Given the description of an element on the screen output the (x, y) to click on. 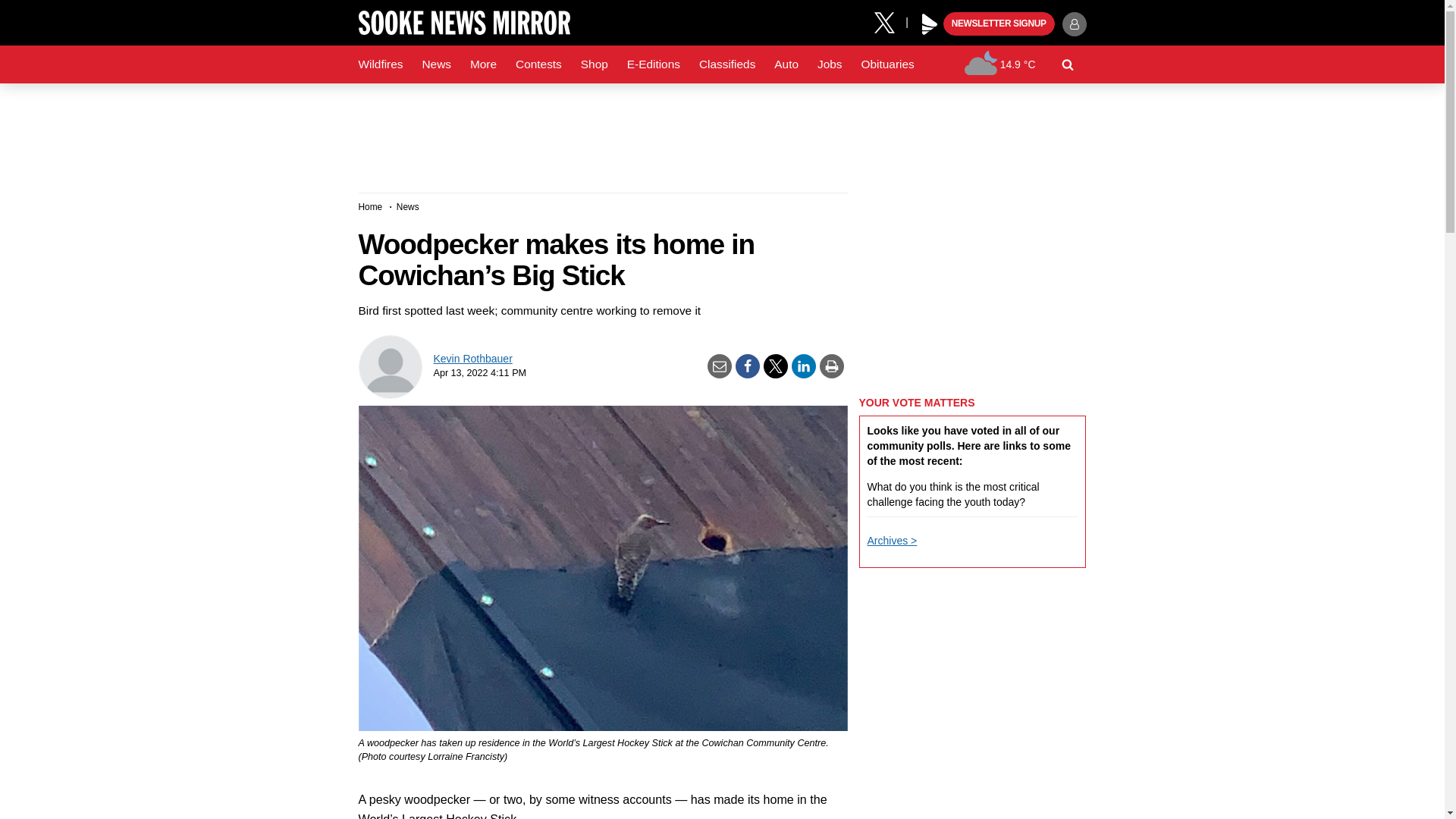
X (889, 21)
News (435, 64)
Wildfires (380, 64)
Play (929, 24)
Black Press Media (929, 24)
NEWSLETTER SIGNUP (998, 24)
